Given the description of an element on the screen output the (x, y) to click on. 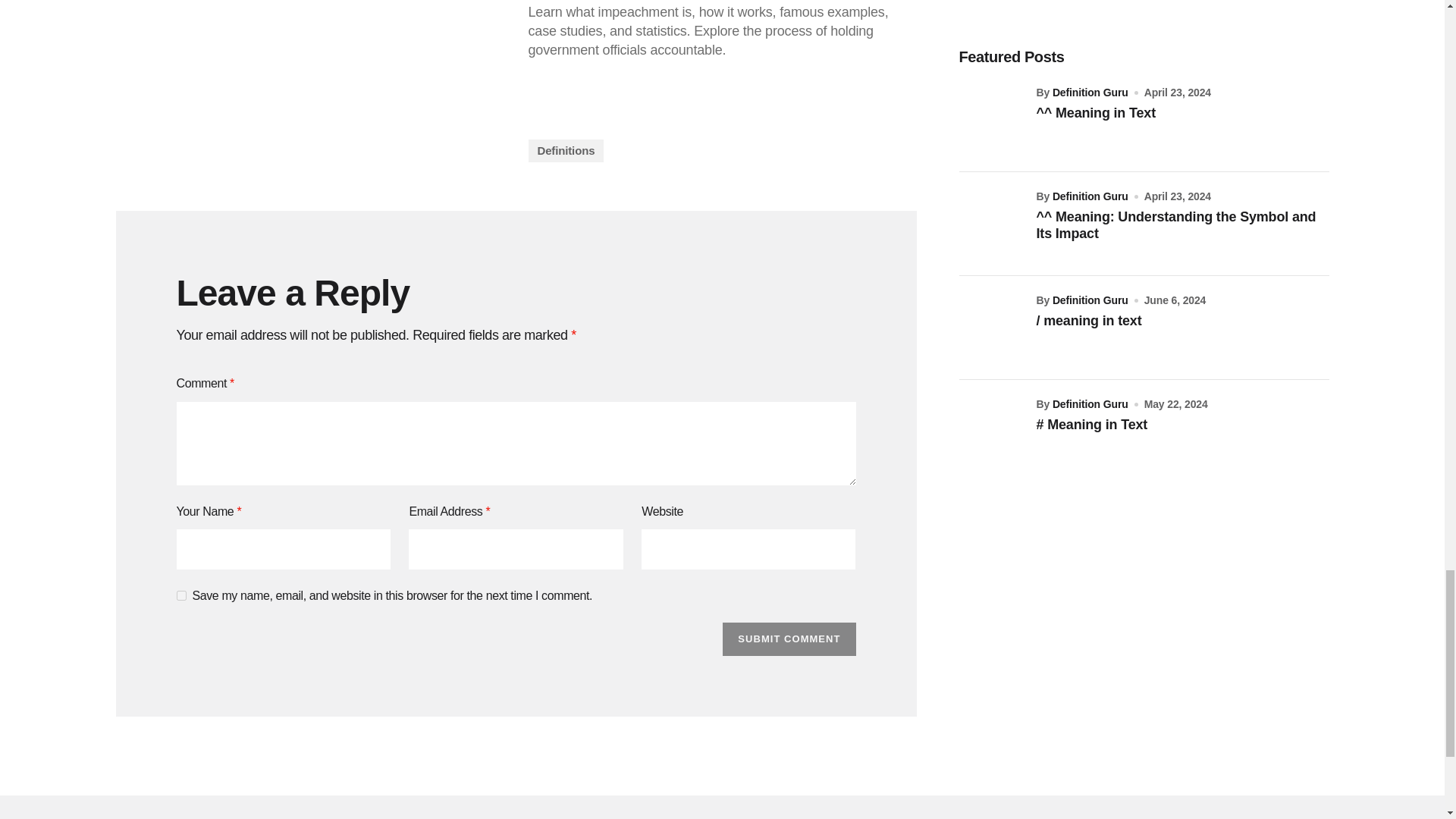
Definitions (565, 150)
SUBMIT COMMENT (789, 639)
yes (181, 595)
Impeachment Definition (309, 81)
